Given the description of an element on the screen output the (x, y) to click on. 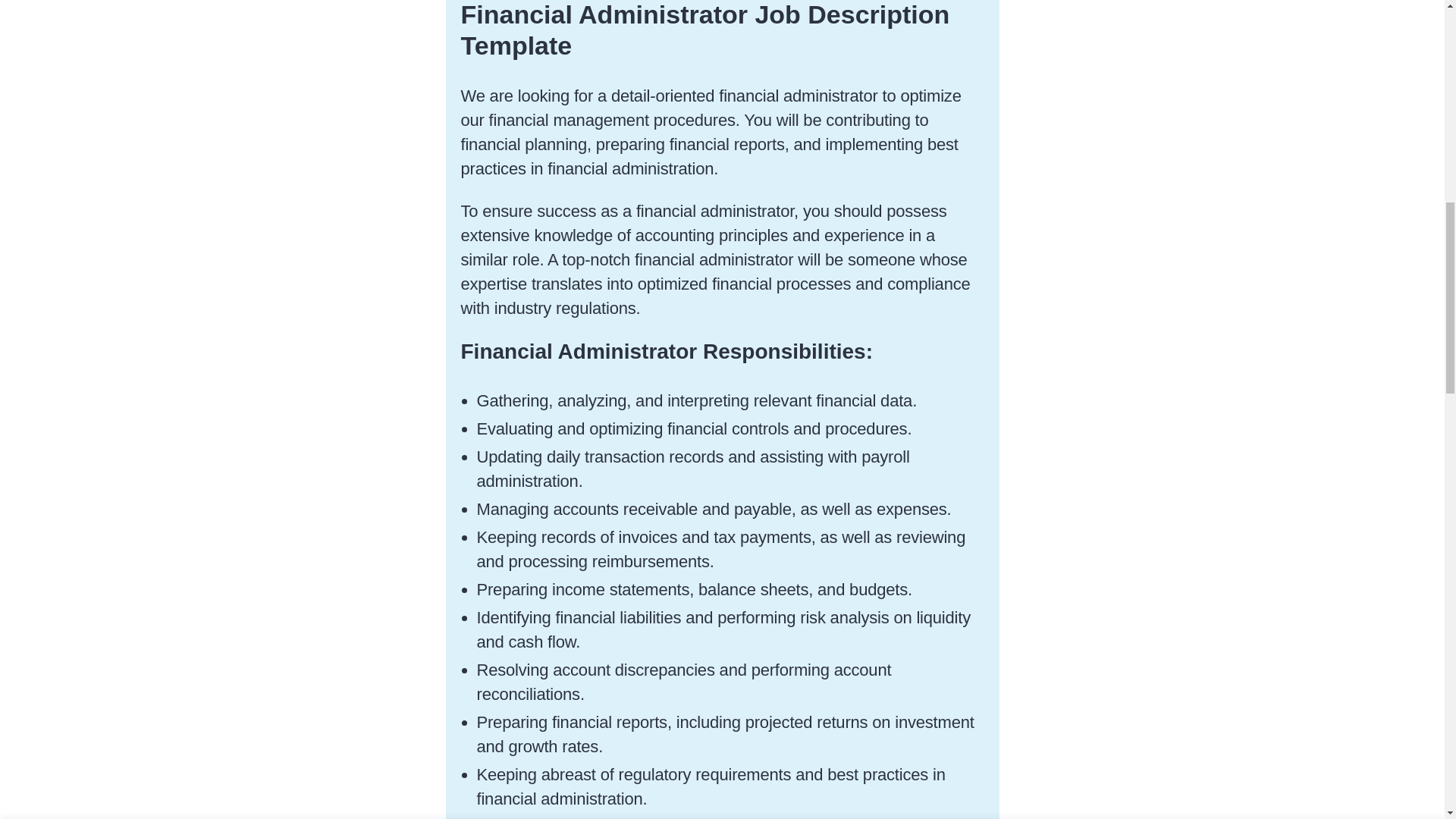
Post a Job (722, 24)
